Given the description of an element on the screen output the (x, y) to click on. 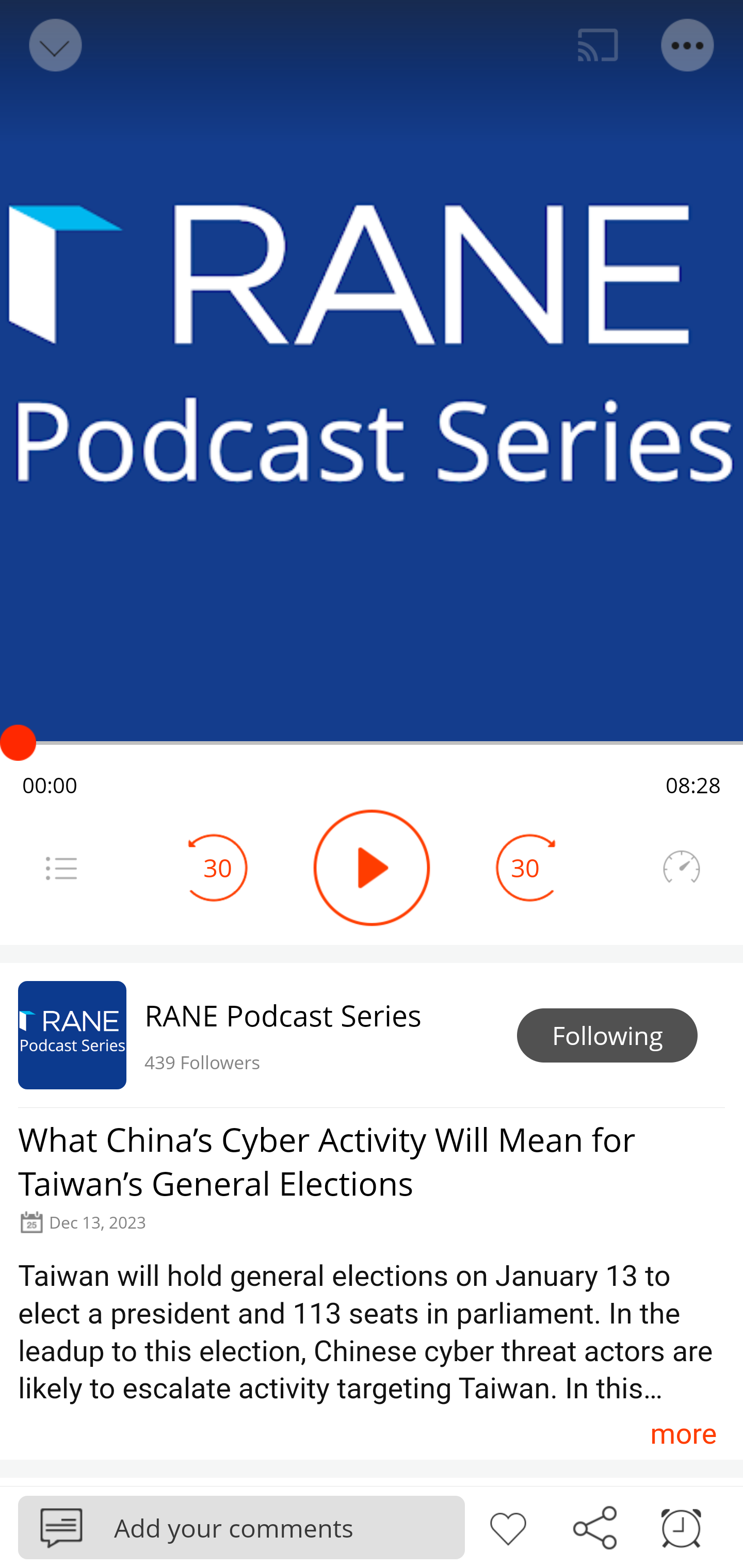
Back (53, 45)
Cast. Disconnected (597, 45)
Menu (688, 45)
Play (371, 867)
30 Seek Backward (217, 867)
30 Seek Forward (525, 867)
Menu (60, 867)
Speedometer (681, 867)
RANE Podcast Series 439 Followers Following (371, 1034)
Following (607, 1035)
more (682, 1432)
Like (508, 1526)
Share (594, 1526)
Sleep timer (681, 1526)
Podbean Add your comments (241, 1526)
